Given the description of an element on the screen output the (x, y) to click on. 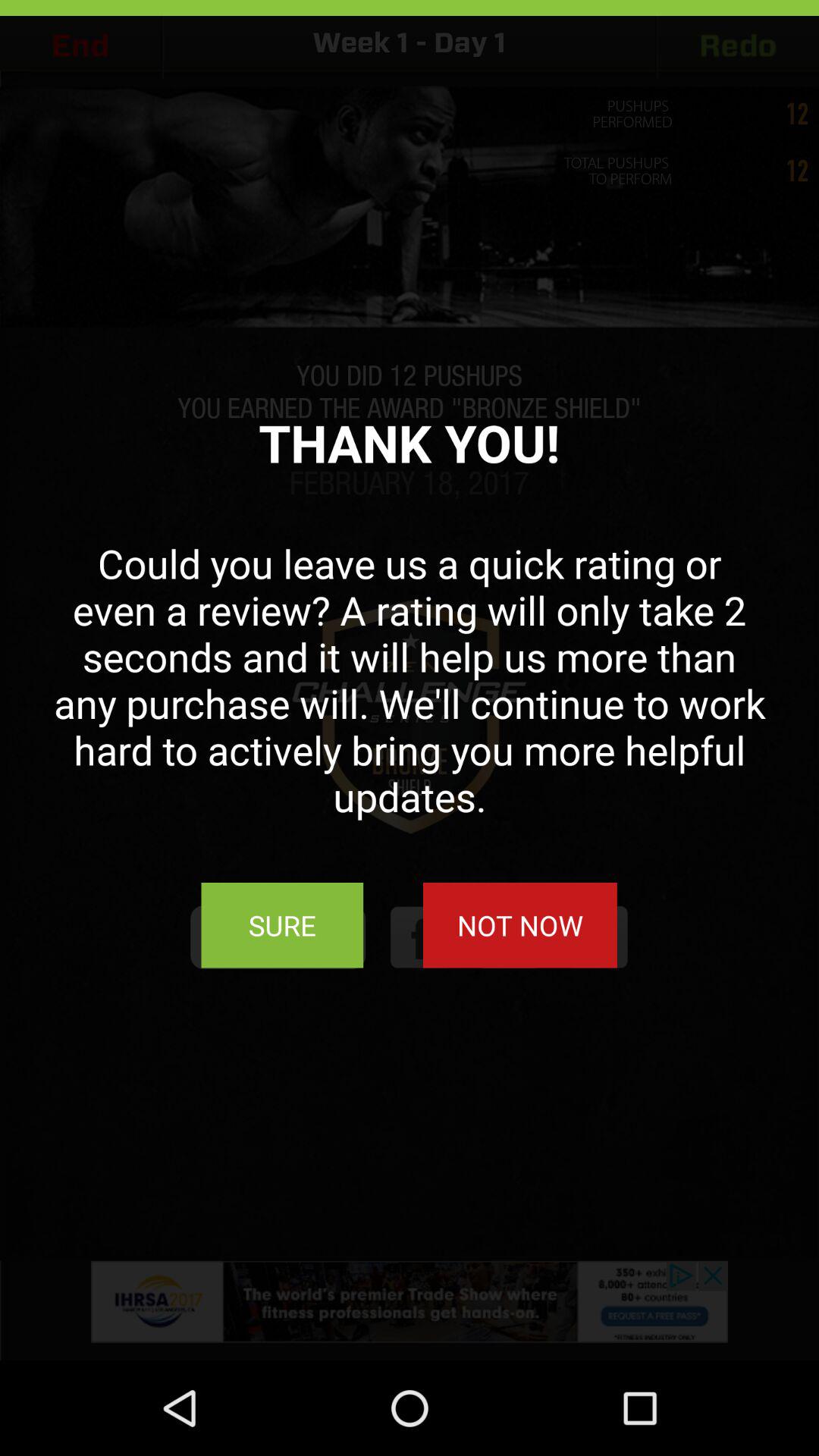
press the button to the right of the sure item (520, 925)
